Given the description of an element on the screen output the (x, y) to click on. 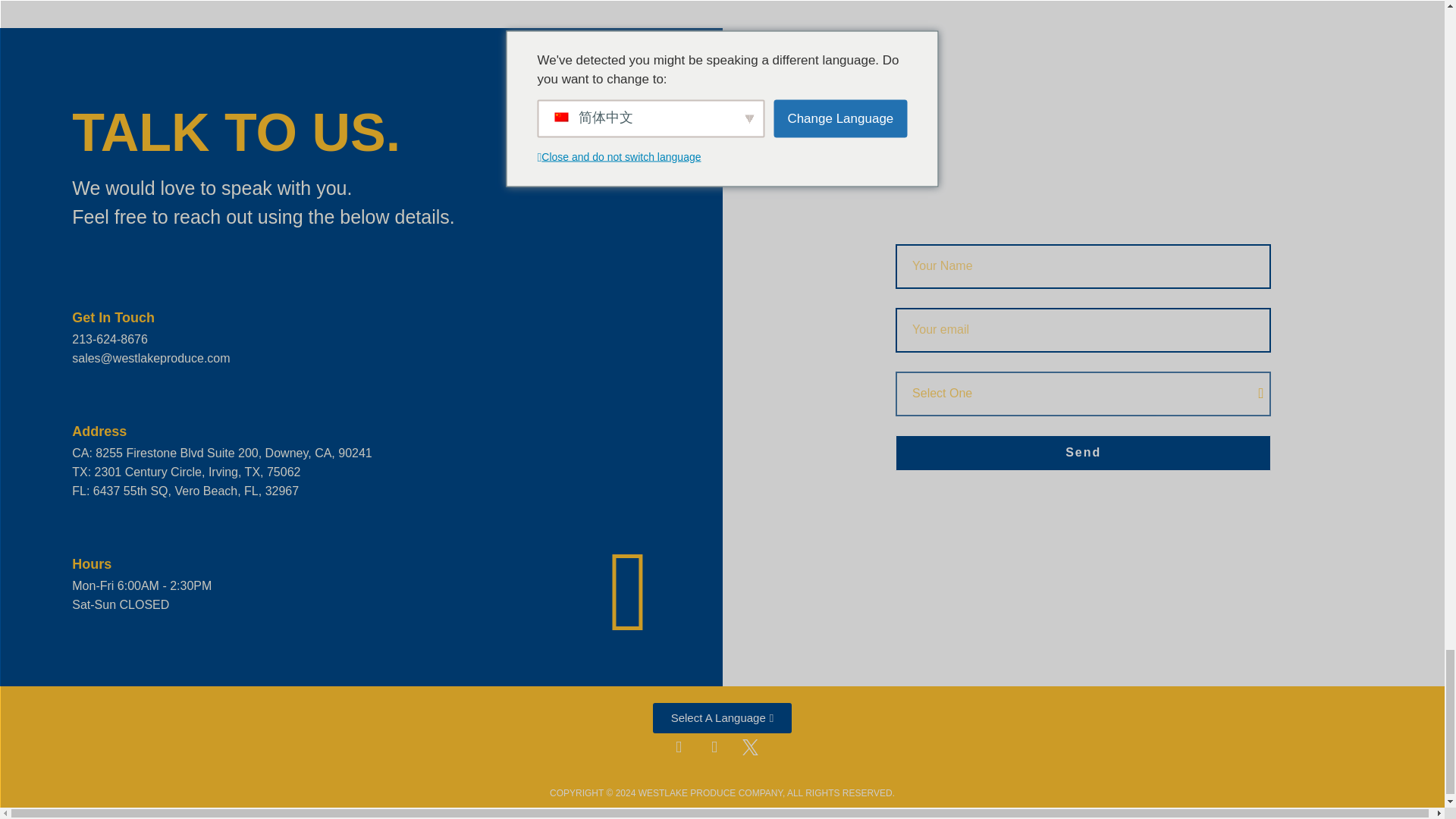
Select A Language (722, 717)
Send (1083, 452)
